Given the description of an element on the screen output the (x, y) to click on. 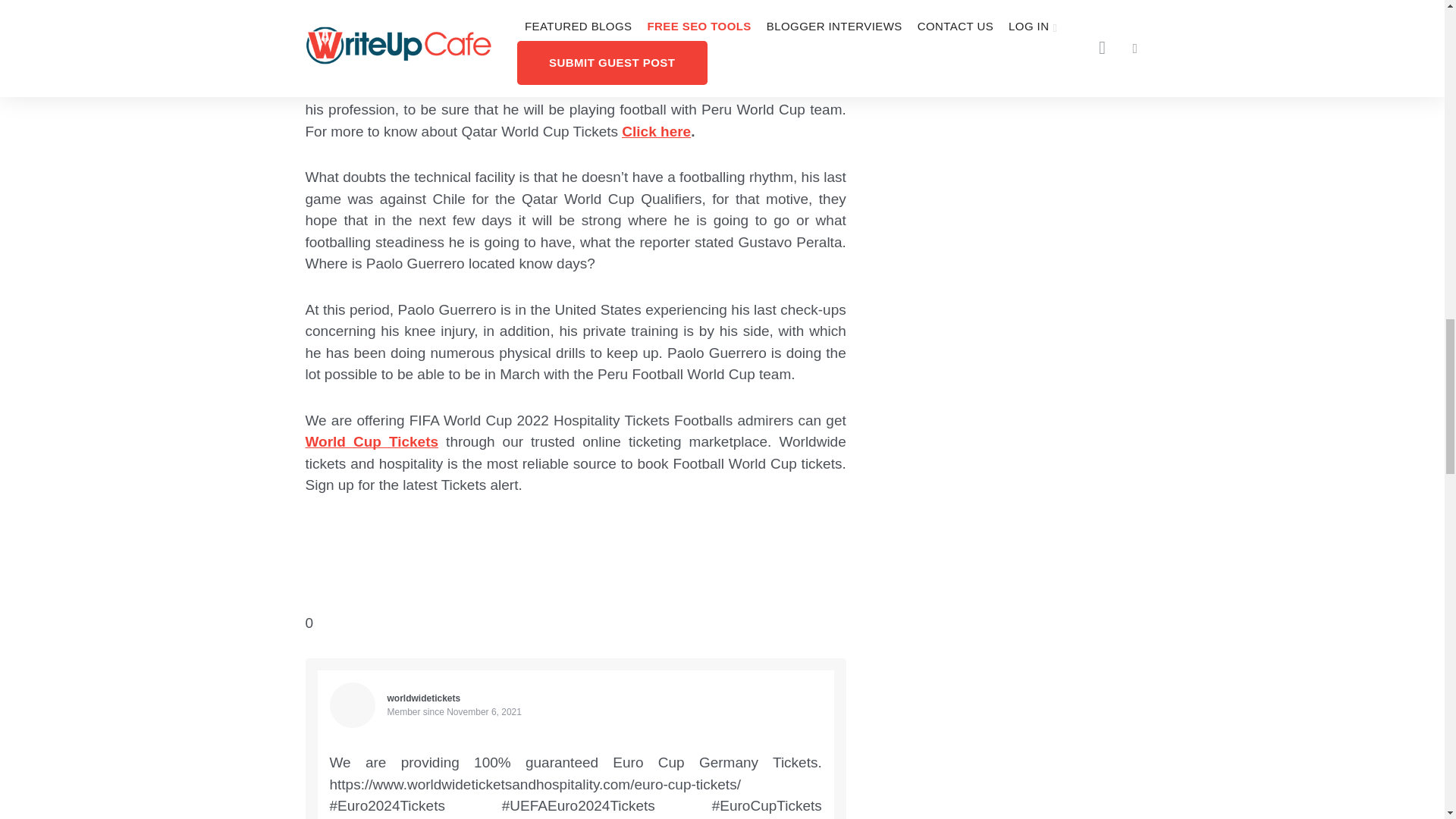
World Cup Tickets (371, 441)
Click here (655, 130)
